Given the description of an element on the screen output the (x, y) to click on. 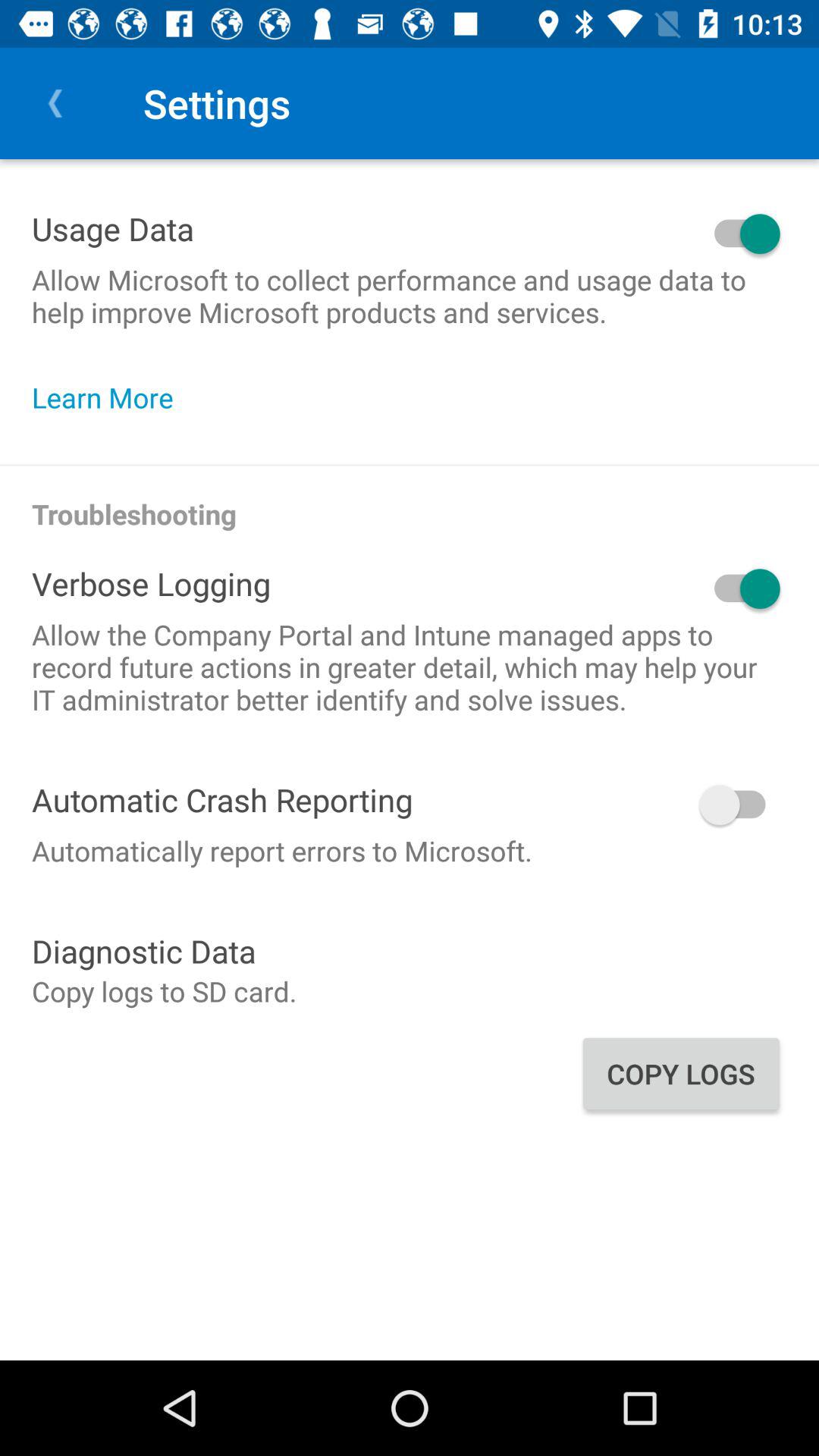
click the icon next to the settings (55, 103)
